Given the description of an element on the screen output the (x, y) to click on. 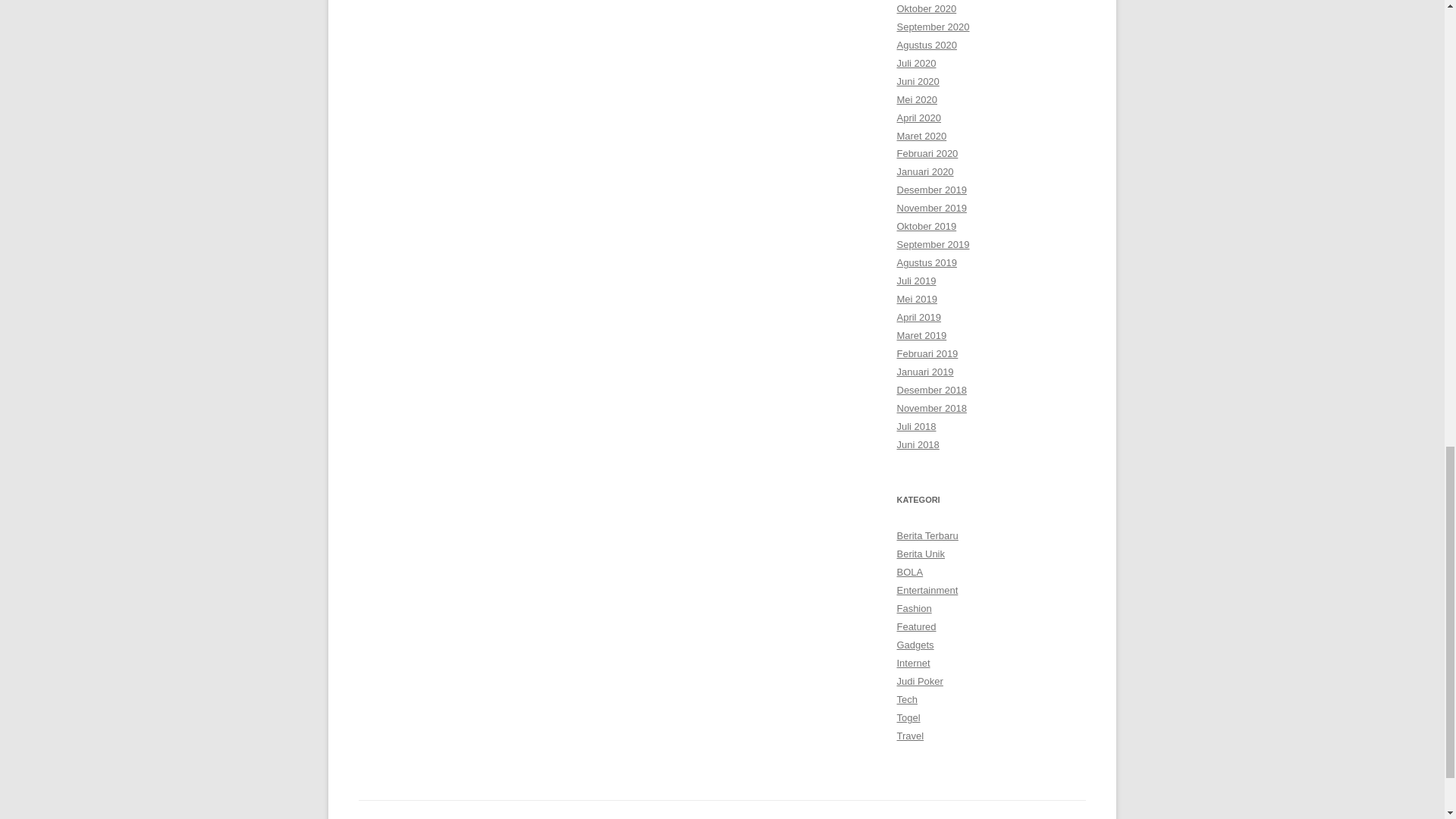
Featured posts (916, 626)
